Given the description of an element on the screen output the (x, y) to click on. 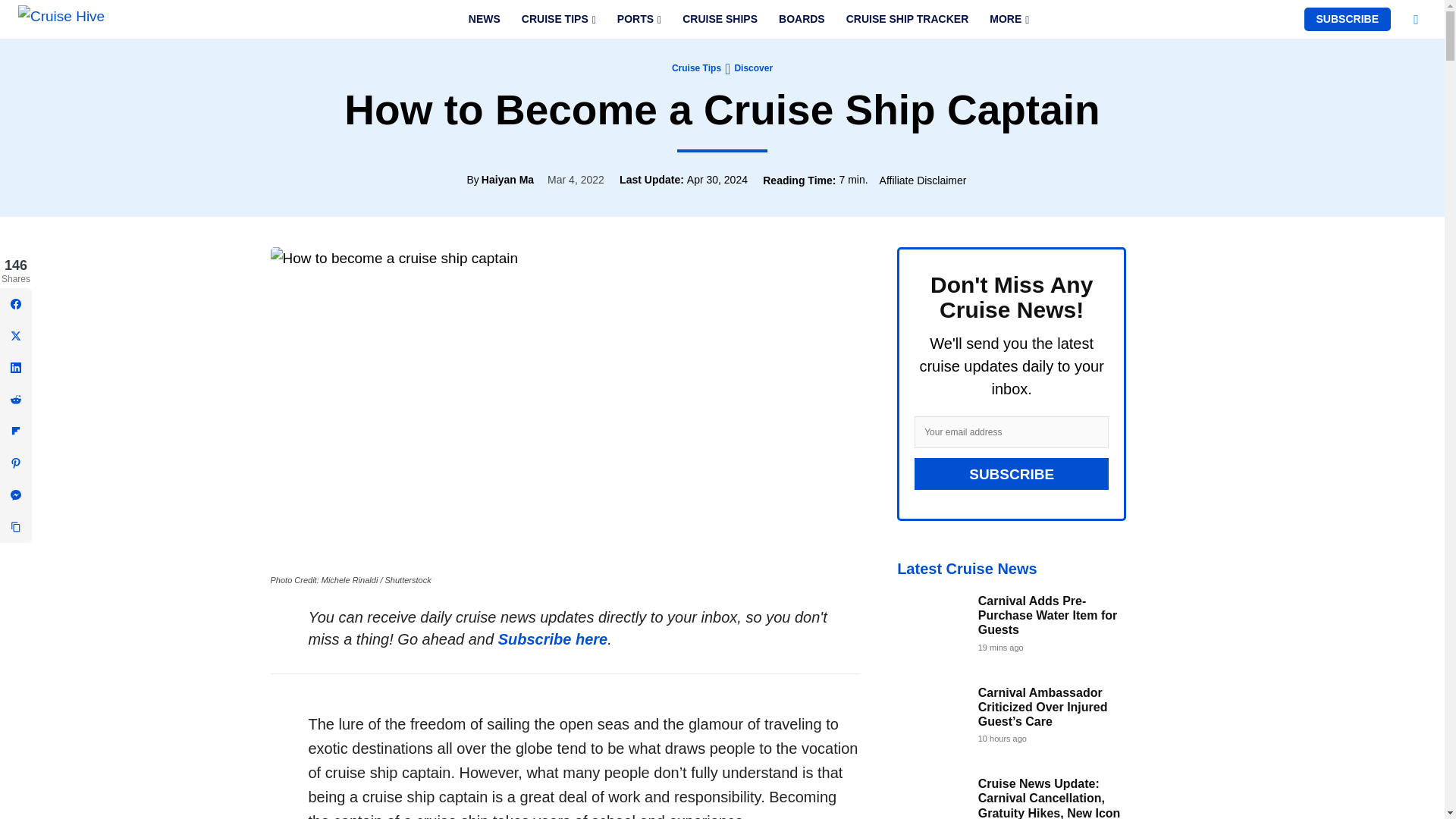
PORTS (639, 19)
View all posts in Discover (753, 68)
SUBSCRIBE (1347, 19)
NEWS (484, 19)
CRUISE TIPS (559, 19)
View all posts in Cruise Tips (695, 68)
